Given the description of an element on the screen output the (x, y) to click on. 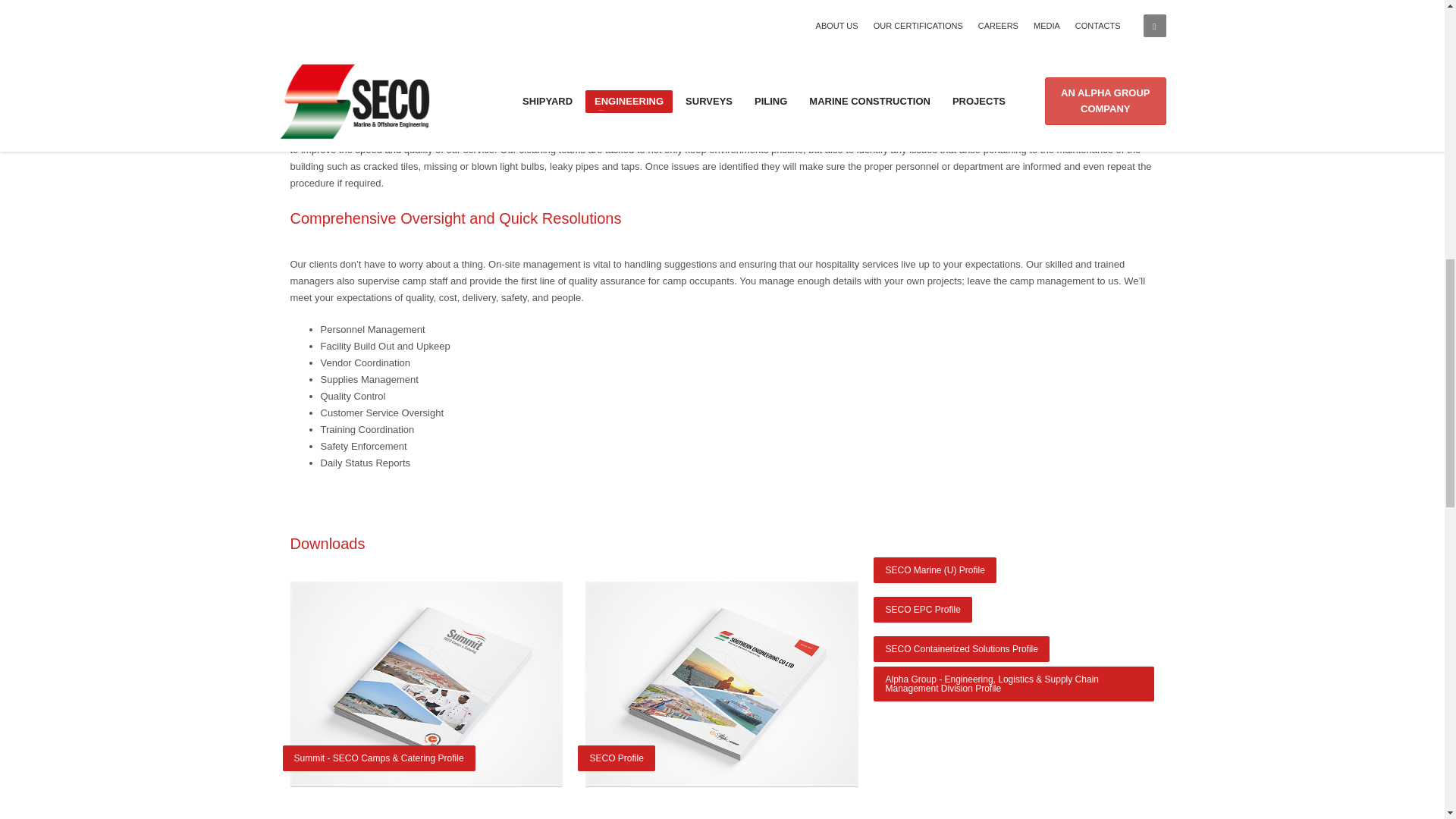
Summit---Mini (425, 683)
SECO---Mini (722, 683)
